Given the description of an element on the screen output the (x, y) to click on. 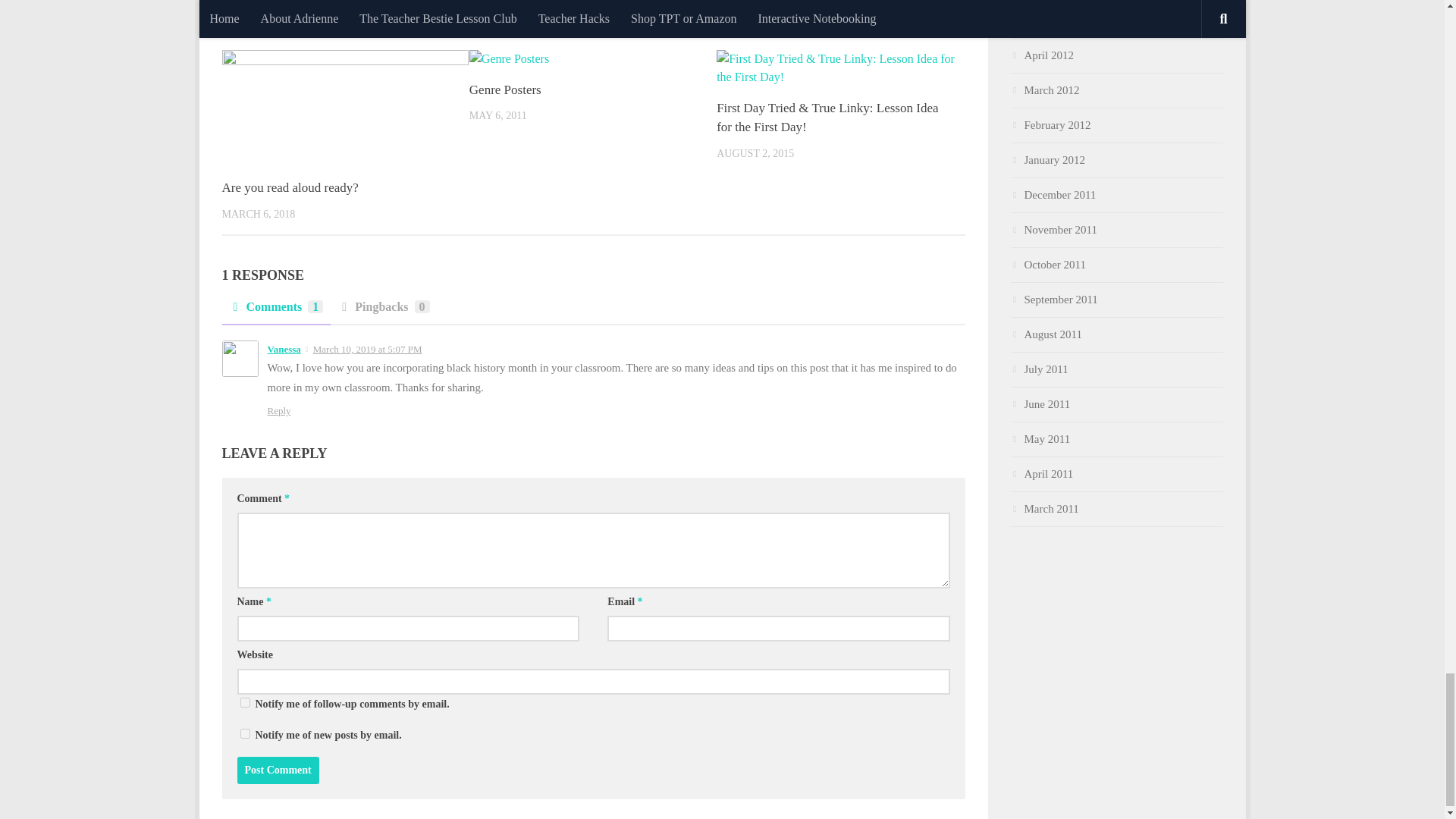
Are you read aloud ready? (289, 187)
subscribe (244, 733)
subscribe (244, 702)
Genre Posters (504, 89)
Post Comment (276, 769)
